Given the description of an element on the screen output the (x, y) to click on. 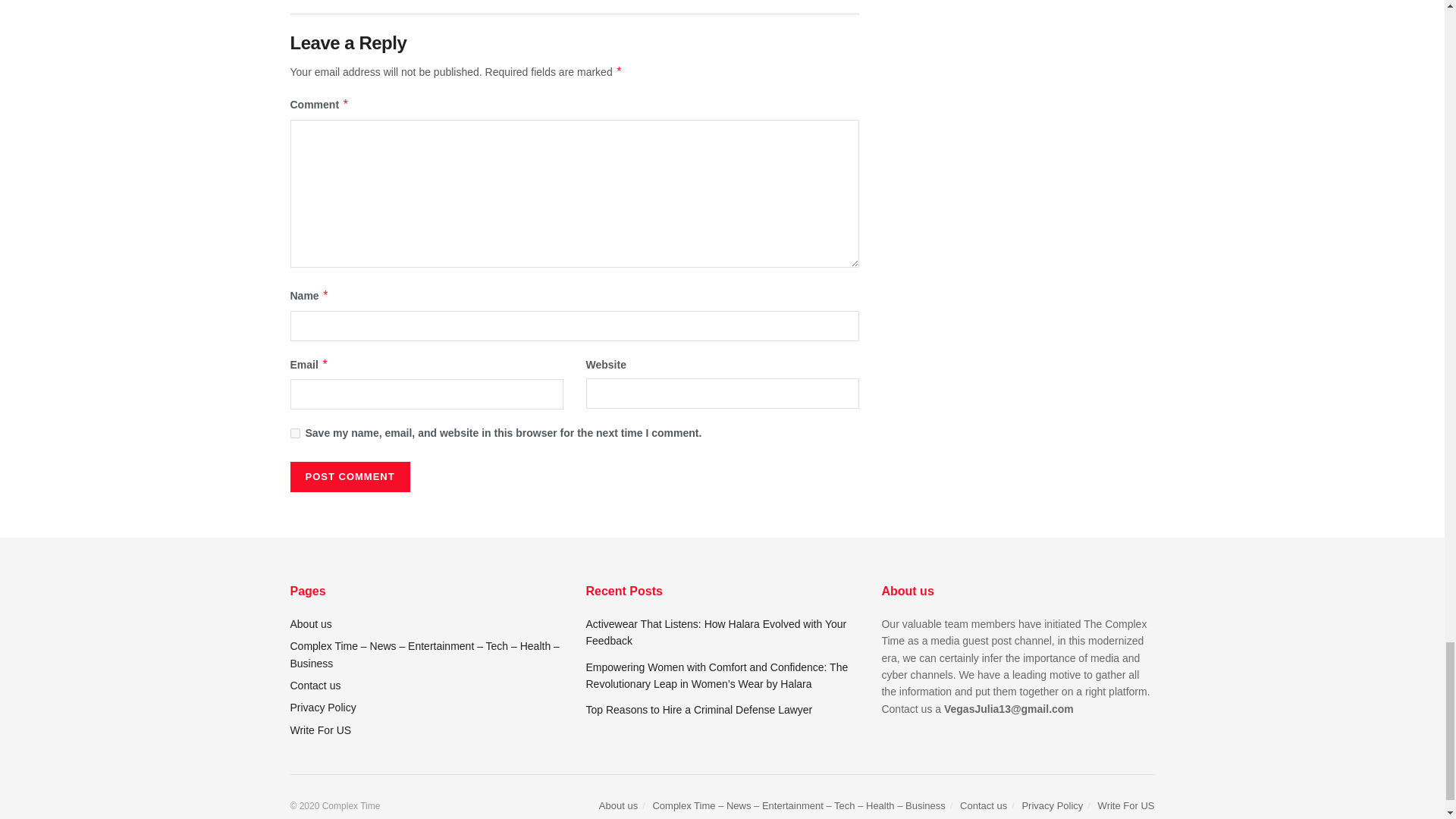
Post Comment (349, 476)
yes (294, 433)
